Given the description of an element on the screen output the (x, y) to click on. 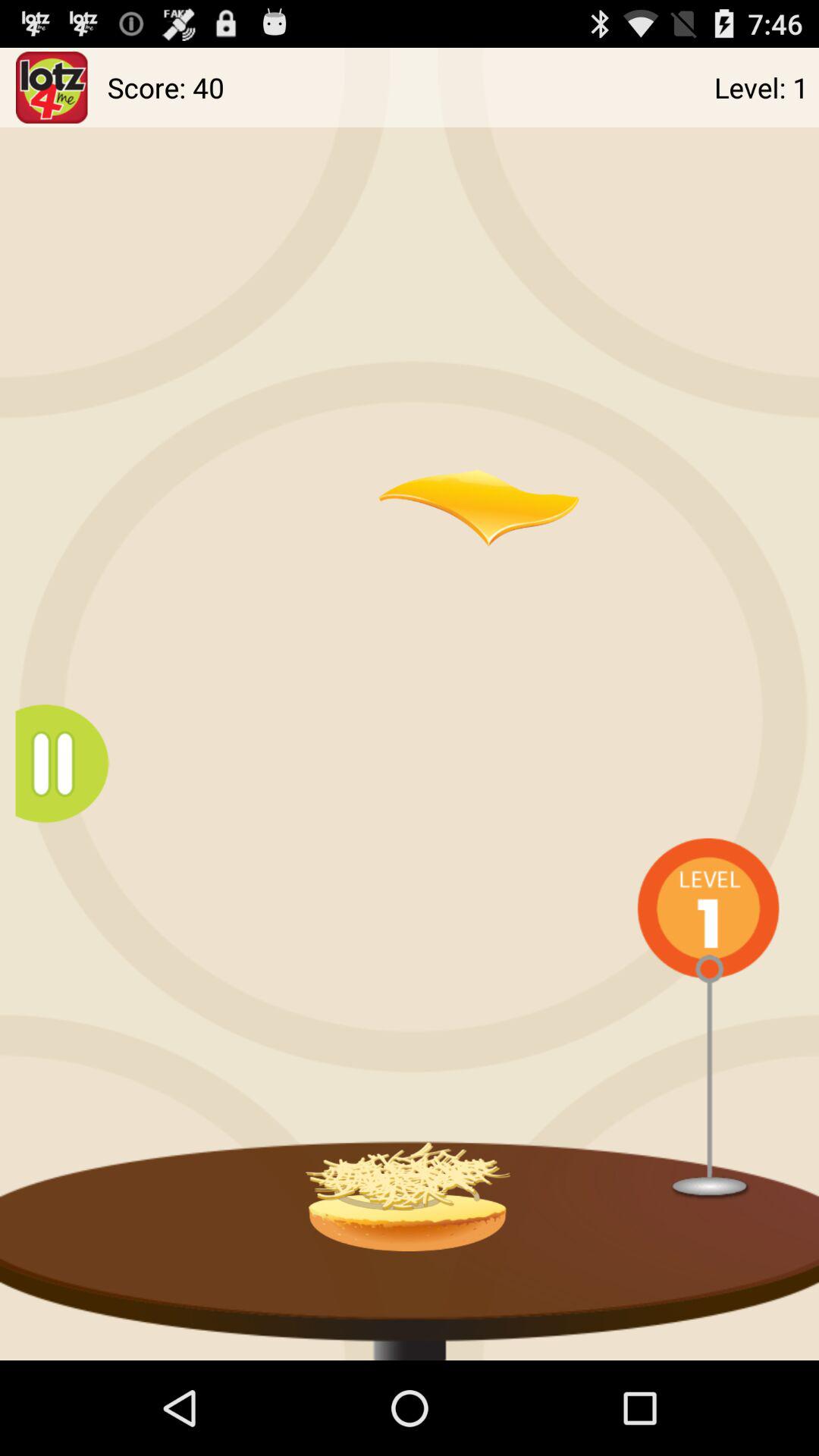
launch app to the left of score: 40 (51, 87)
